Given the description of an element on the screen output the (x, y) to click on. 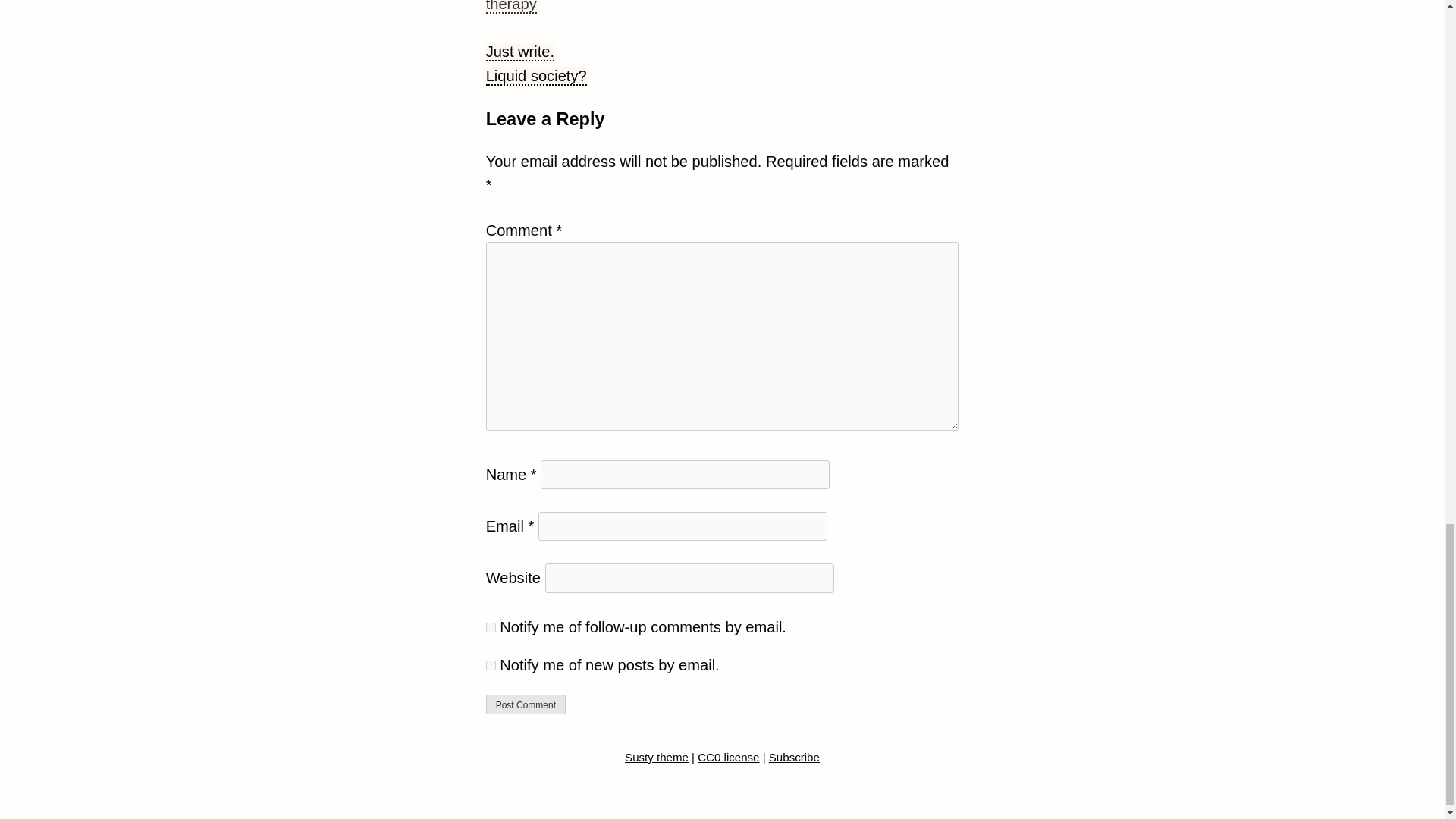
Liquid society? (536, 76)
Subscribe (793, 758)
therapy (511, 6)
subscribe (491, 665)
Just write. (520, 52)
subscribe (491, 627)
Susty theme (656, 758)
CC0 license (727, 758)
Post Comment (526, 704)
Post Comment (526, 704)
